Given the description of an element on the screen output the (x, y) to click on. 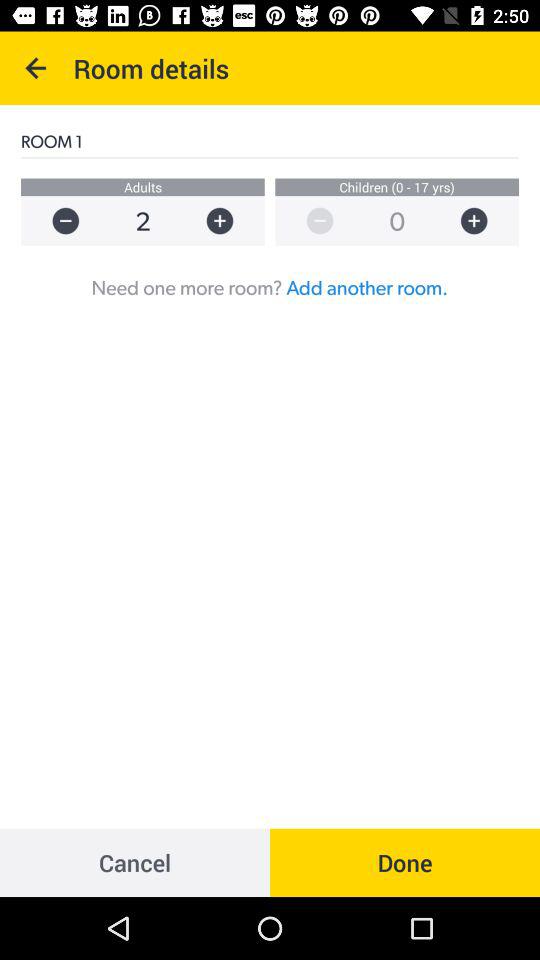
click the done at the bottom right corner (405, 862)
